Given the description of an element on the screen output the (x, y) to click on. 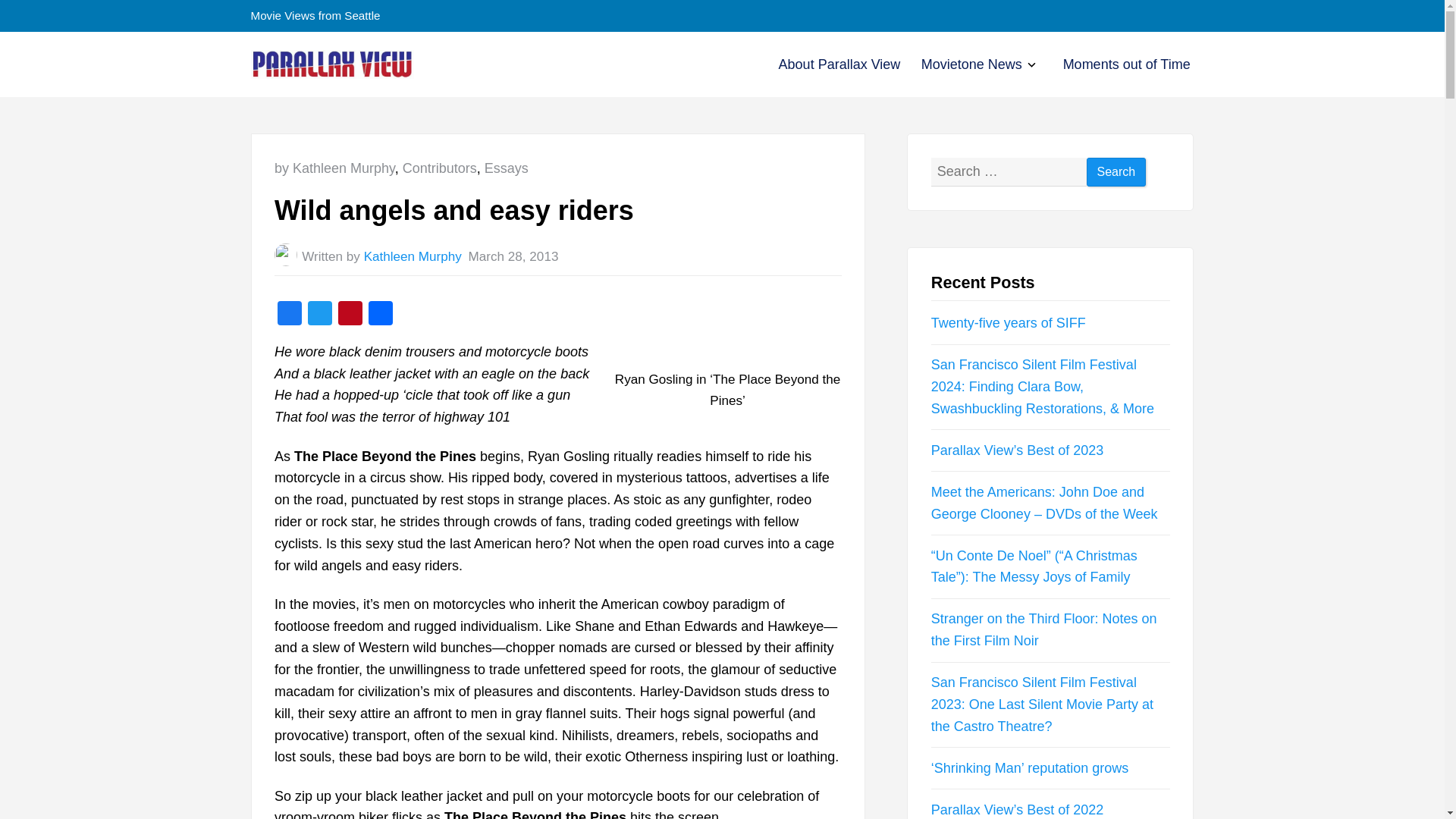
Twitter (319, 315)
Movietone News (1029, 66)
Pinterest (971, 64)
Search (349, 315)
Contributors (1115, 172)
Movietone News (440, 168)
Essays (971, 64)
by Kathleen Murphy (506, 168)
Facebook (334, 168)
Moments out of Time (289, 315)
Kathleen Murphy (1126, 64)
Twenty-five years of SIFF (412, 256)
Moments out of Time (1008, 322)
About Parallax View (1126, 64)
